Given the description of an element on the screen output the (x, y) to click on. 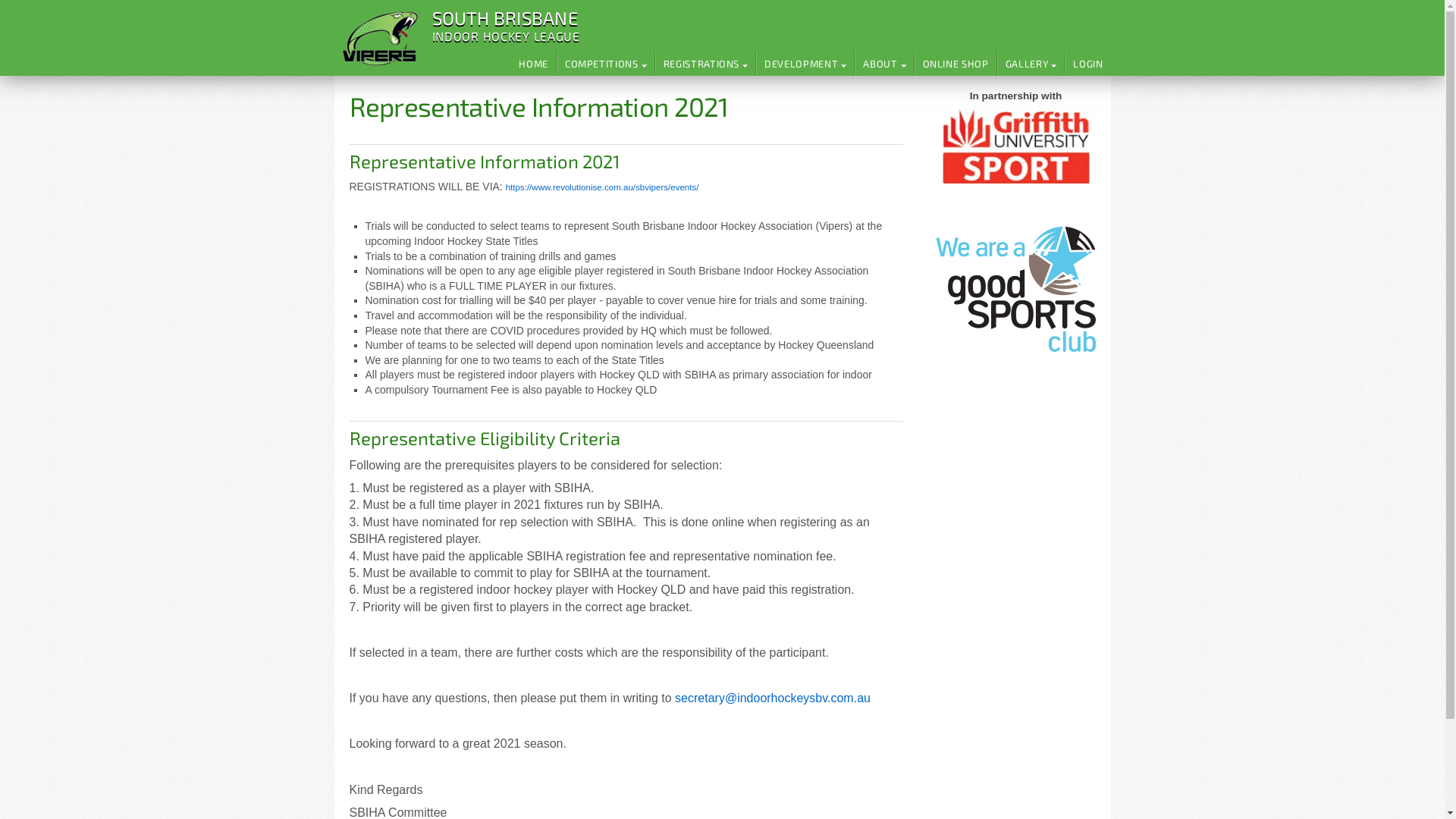
COMPETITIONS Element type: text (605, 63)
In partnership with Element type: text (1015, 139)
REGISTRATIONS Element type: text (705, 63)
ABOUT Element type: text (883, 63)
SOUTH BRISBANE
INDOOR HOCKEY LEAGUE Element type: text (501, 27)
DEVELOPMENT Element type: text (804, 63)
secretary@indoorhockeysbv.com.au Element type: text (772, 697)
LOGIN Element type: text (1087, 63)
HOME Element type: text (533, 63)
GALLERY Element type: text (1030, 63)
https://www.revolutionise.com.au/sbvipers/events/ Element type: text (602, 186)
ONLINE SHOP Element type: text (955, 63)
